Given the description of an element on the screen output the (x, y) to click on. 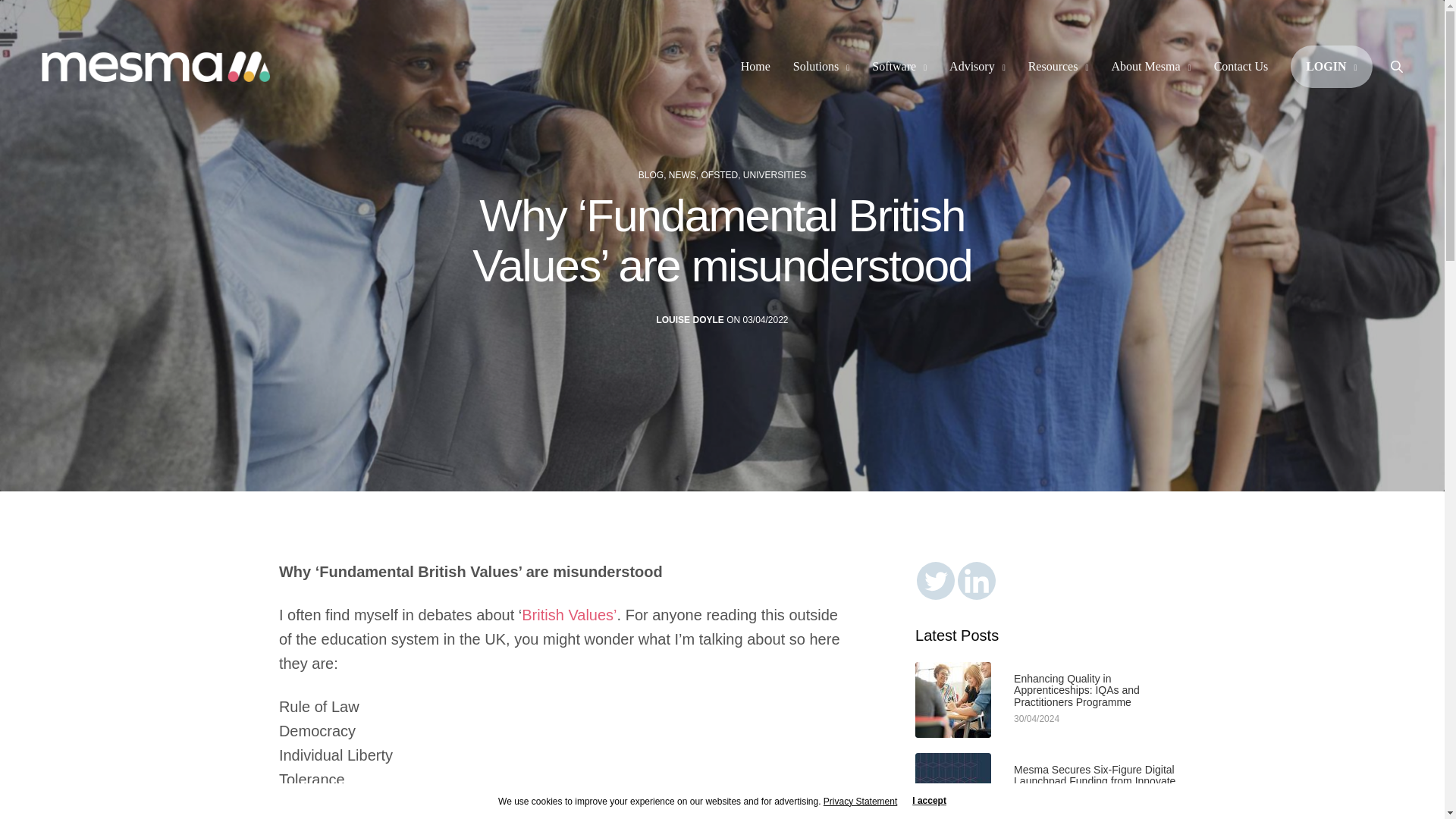
Resources (1058, 66)
Solutions (821, 66)
Posts by Louise Doyle (689, 319)
Mesma Quality Assurance Software and Advisory Support (156, 66)
Advisory (977, 66)
Software (899, 66)
Twitter (936, 580)
Linkedin (976, 580)
